Given the description of an element on the screen output the (x, y) to click on. 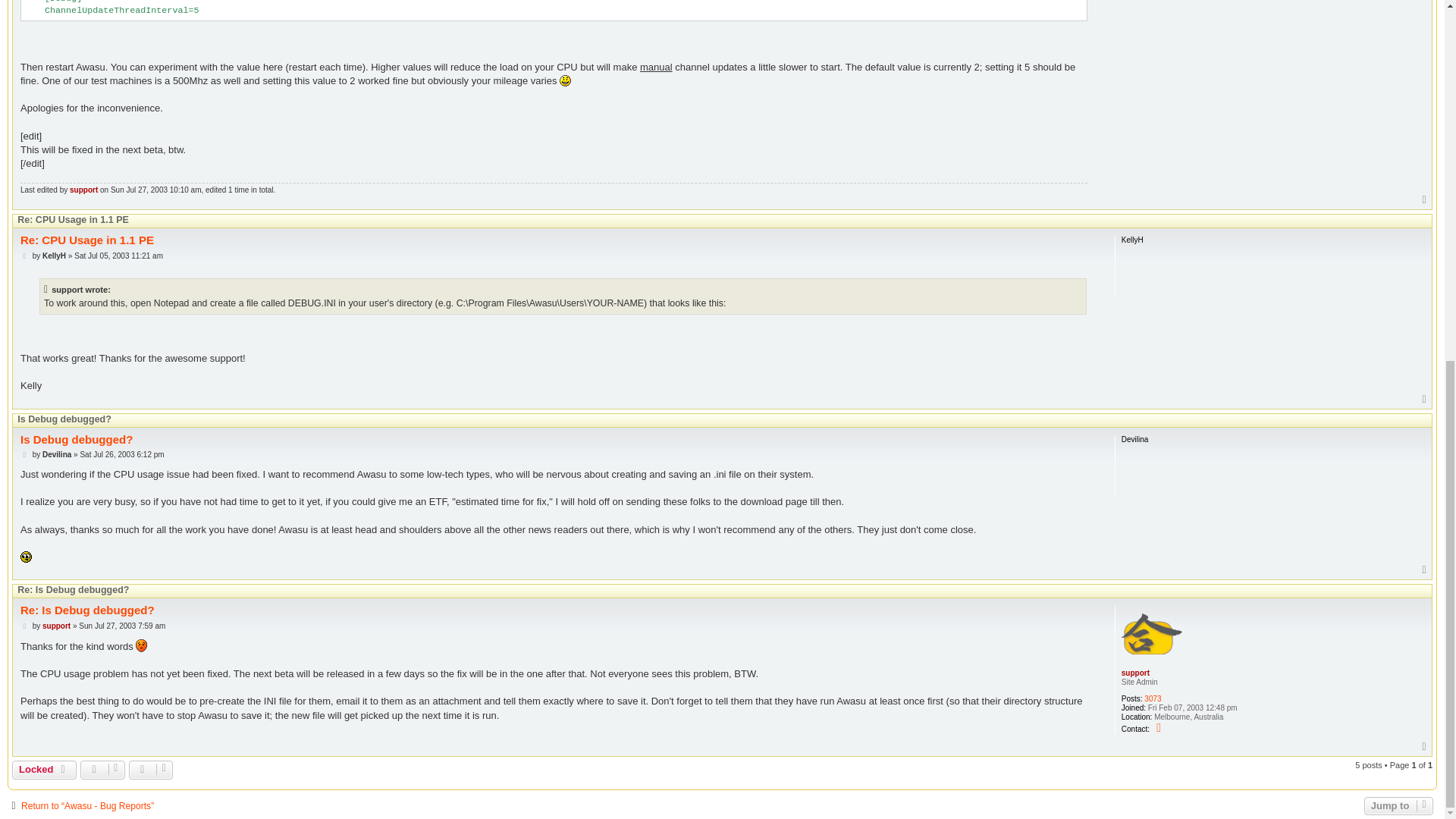
Re: CPU Usage in 1.1 PE (73, 219)
Post (25, 256)
Re: CPU Usage in 1.1 PE (87, 240)
support (83, 189)
Top (1424, 199)
